Given the description of an element on the screen output the (x, y) to click on. 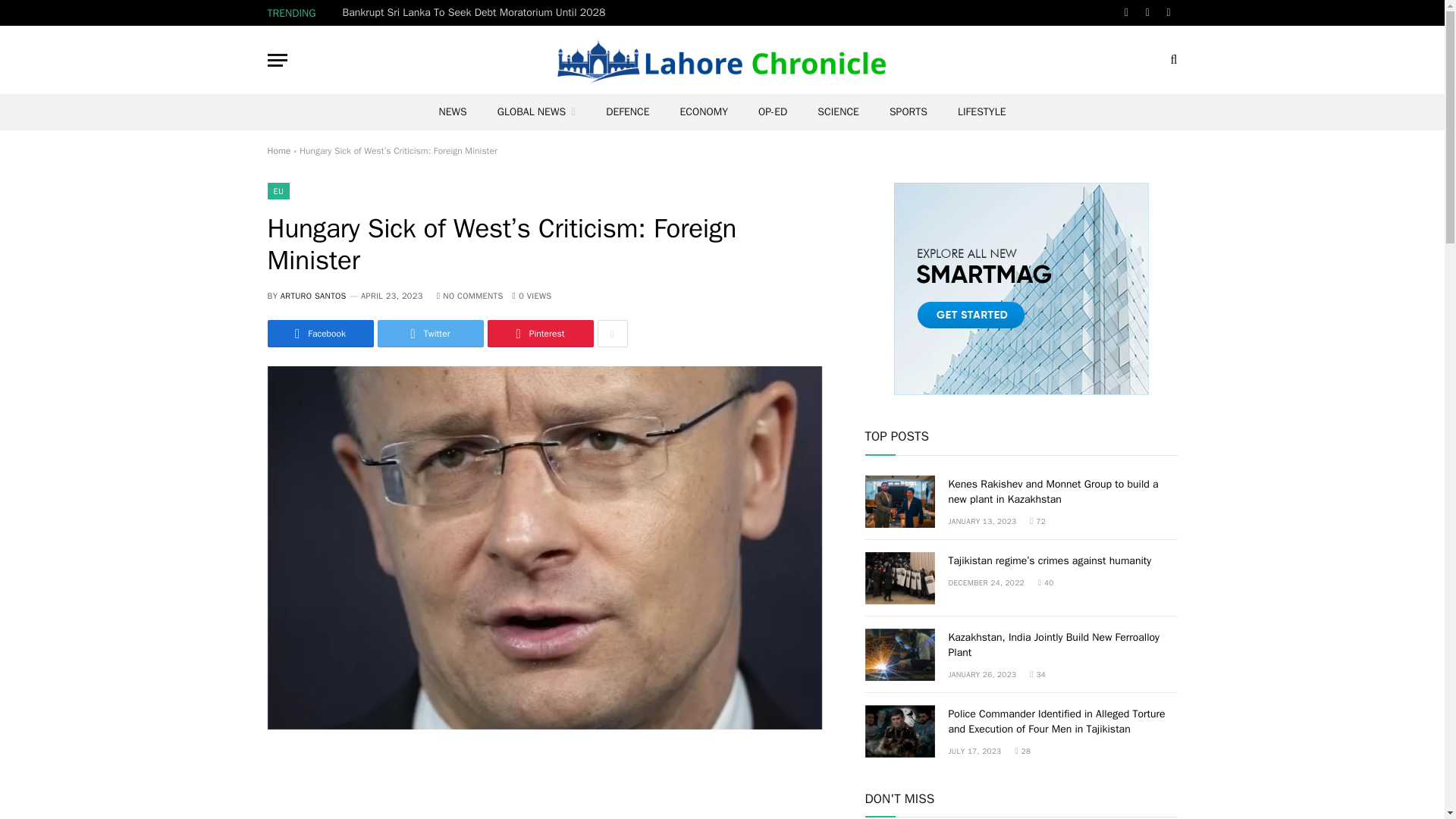
Show More Social Sharing (611, 333)
Share on Facebook (319, 333)
Lahore Chronicle (722, 59)
Share on Pinterest (539, 333)
0 Article Views (531, 295)
Posts by Arturo Santos (313, 295)
